Given the description of an element on the screen output the (x, y) to click on. 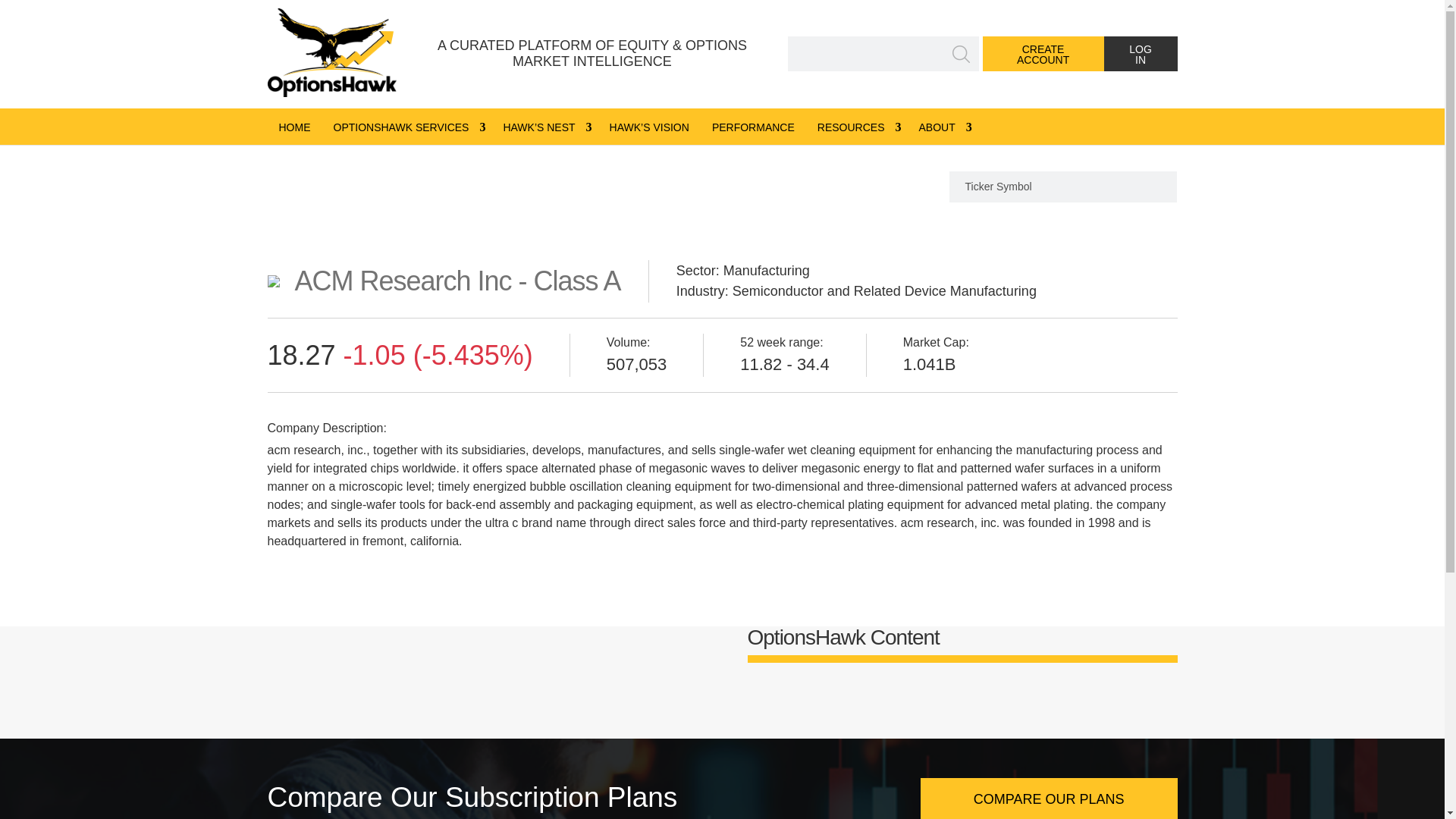
CREATE ACCOUNT (1042, 53)
RESOURCES (856, 125)
ABOUT (941, 125)
HOME (293, 125)
OPTIONSHAWK SERVICES (406, 125)
PERFORMANCE (753, 125)
LOG IN (1140, 53)
